Given the description of an element on the screen output the (x, y) to click on. 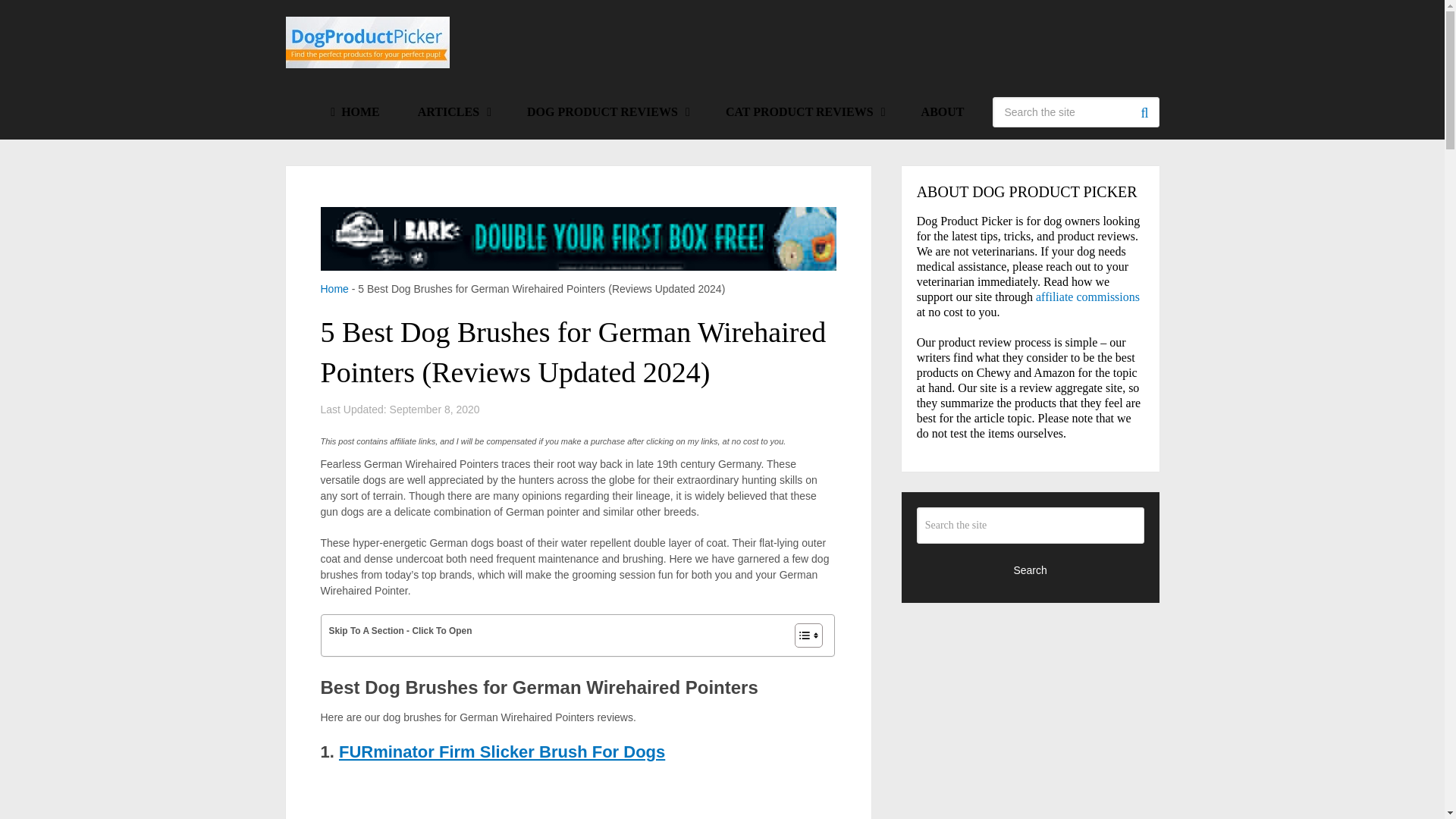
CAT PRODUCT REVIEWS (804, 112)
Home (333, 288)
DOG PRODUCT REVIEWS (607, 112)
HOME (354, 112)
Search (1143, 112)
ABOUT (943, 112)
ARTICLES (453, 112)
